Given the description of an element on the screen output the (x, y) to click on. 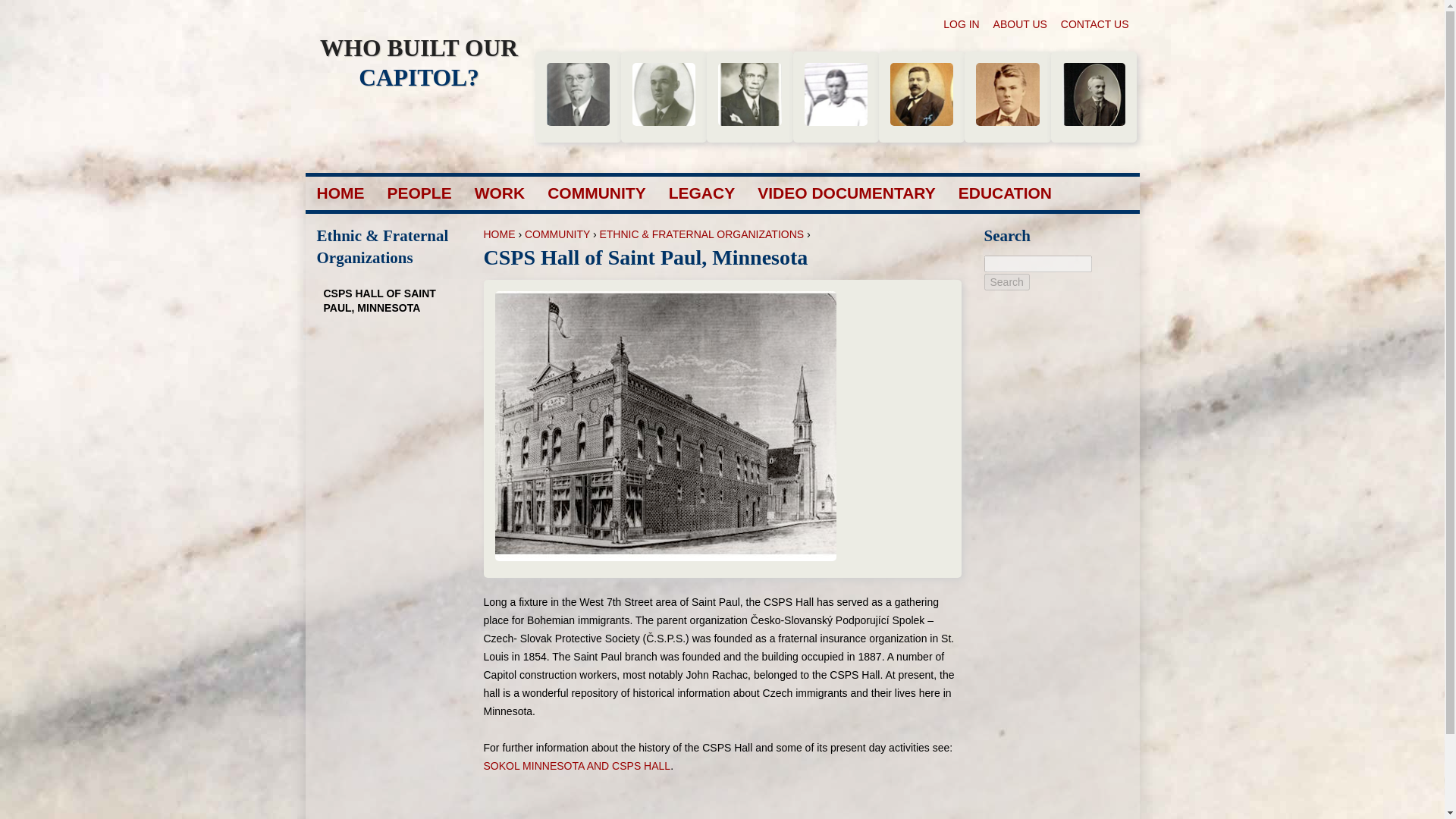
Eric Isaacson (1093, 94)
WORK (499, 192)
Portrait J. Rachac (921, 94)
LOG IN (960, 24)
COMMUNITY (556, 234)
Enter the terms you wish to search for. (1038, 263)
Portrait E. Jones (748, 94)
Nils Nelson (577, 94)
PEOPLE (419, 192)
Home (419, 62)
CONTACT US (1095, 24)
LEGACY (701, 192)
Search (1006, 281)
COMMUNITY (596, 192)
HOME (499, 234)
